Given the description of an element on the screen output the (x, y) to click on. 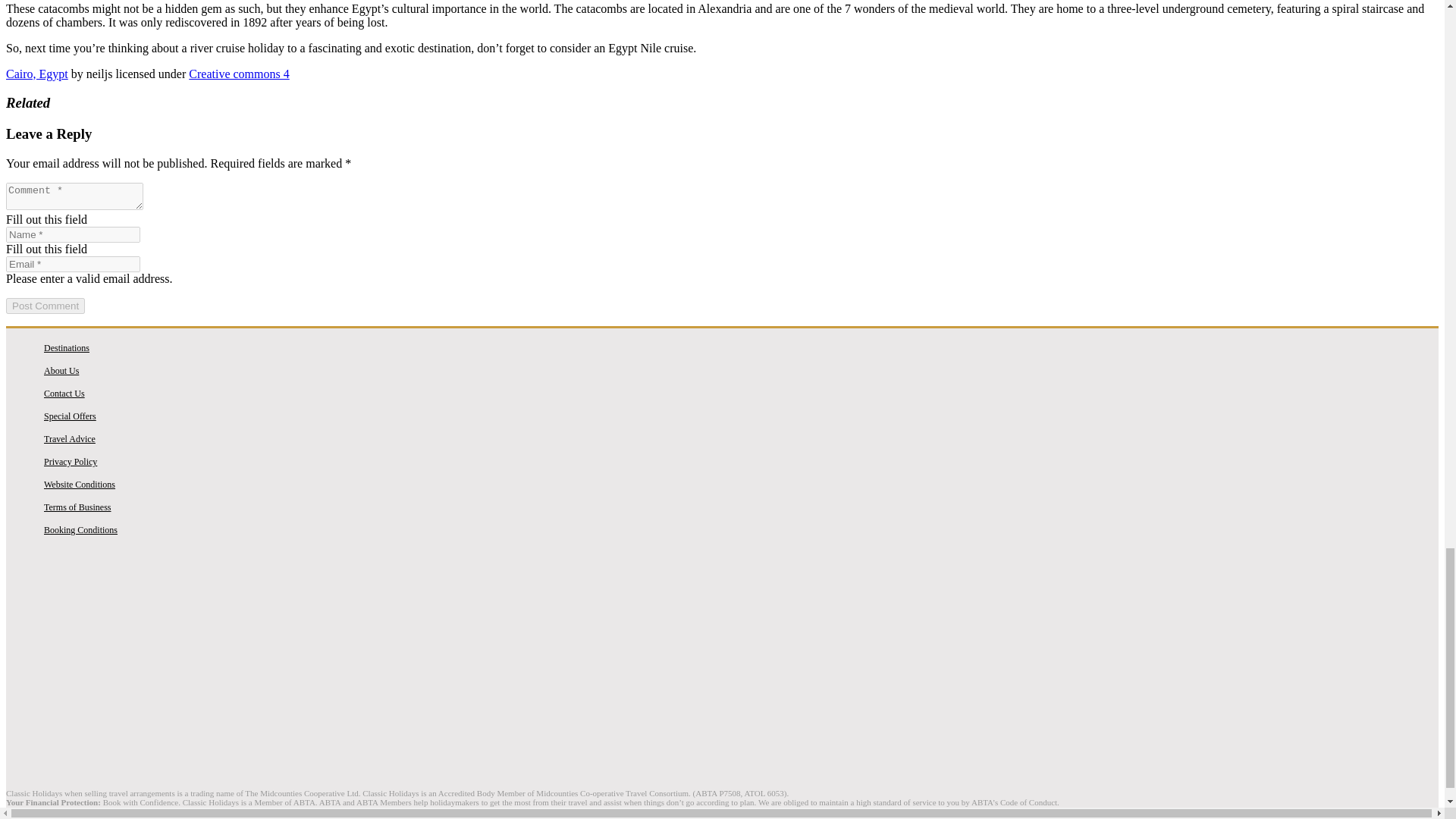
Hidden gems to visit in Egypt (721, 740)
Travel Advice (69, 439)
Special Offers (69, 416)
Destinations (65, 347)
About Us (60, 370)
Post Comment (44, 305)
Cairo, Egypt (36, 73)
Creative commons 4 (238, 73)
Contact Us (63, 393)
Hidden gems to visit in Egypt (722, 621)
